Given the description of an element on the screen output the (x, y) to click on. 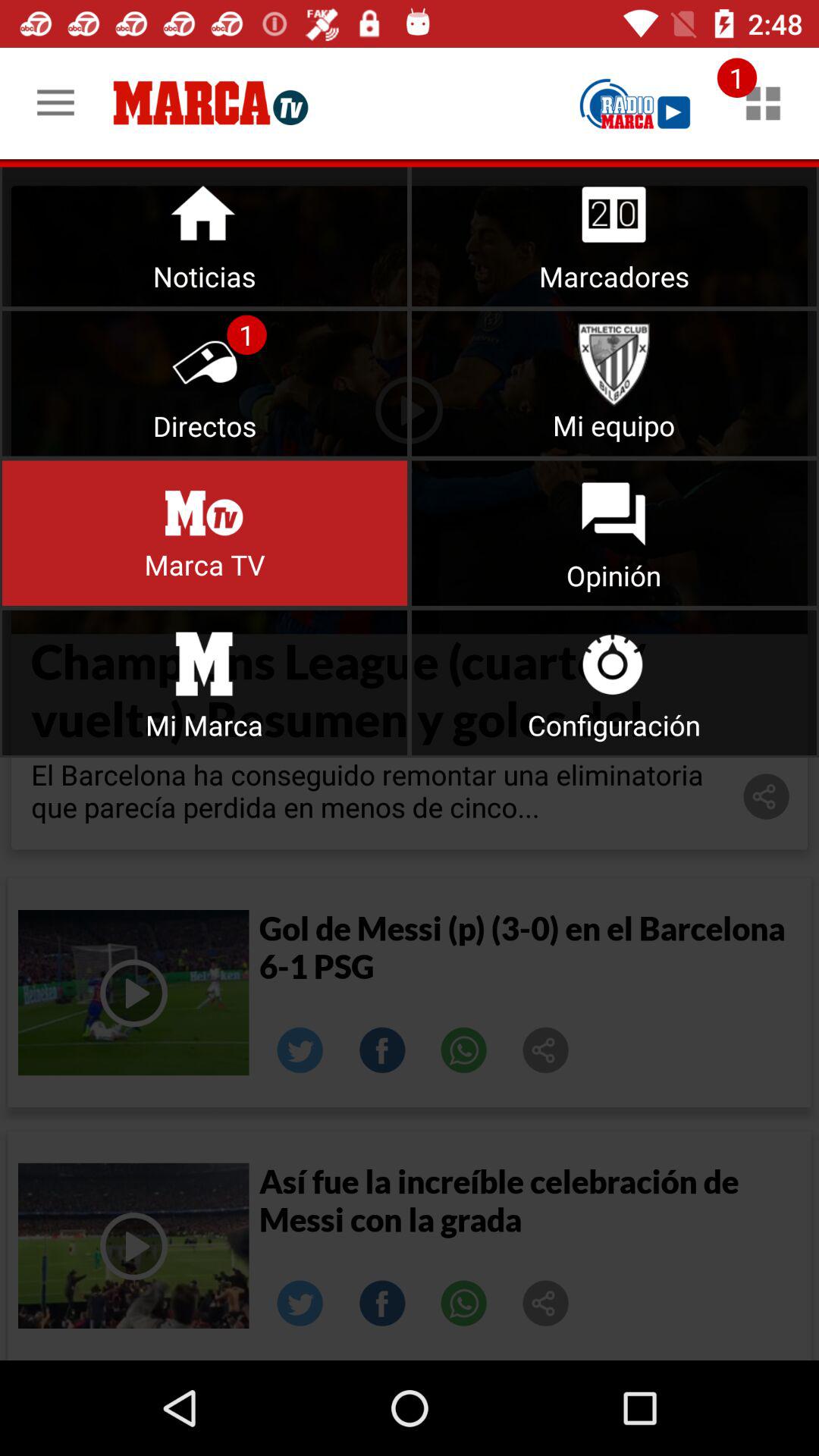
play video (133, 1245)
